Given the description of an element on the screen output the (x, y) to click on. 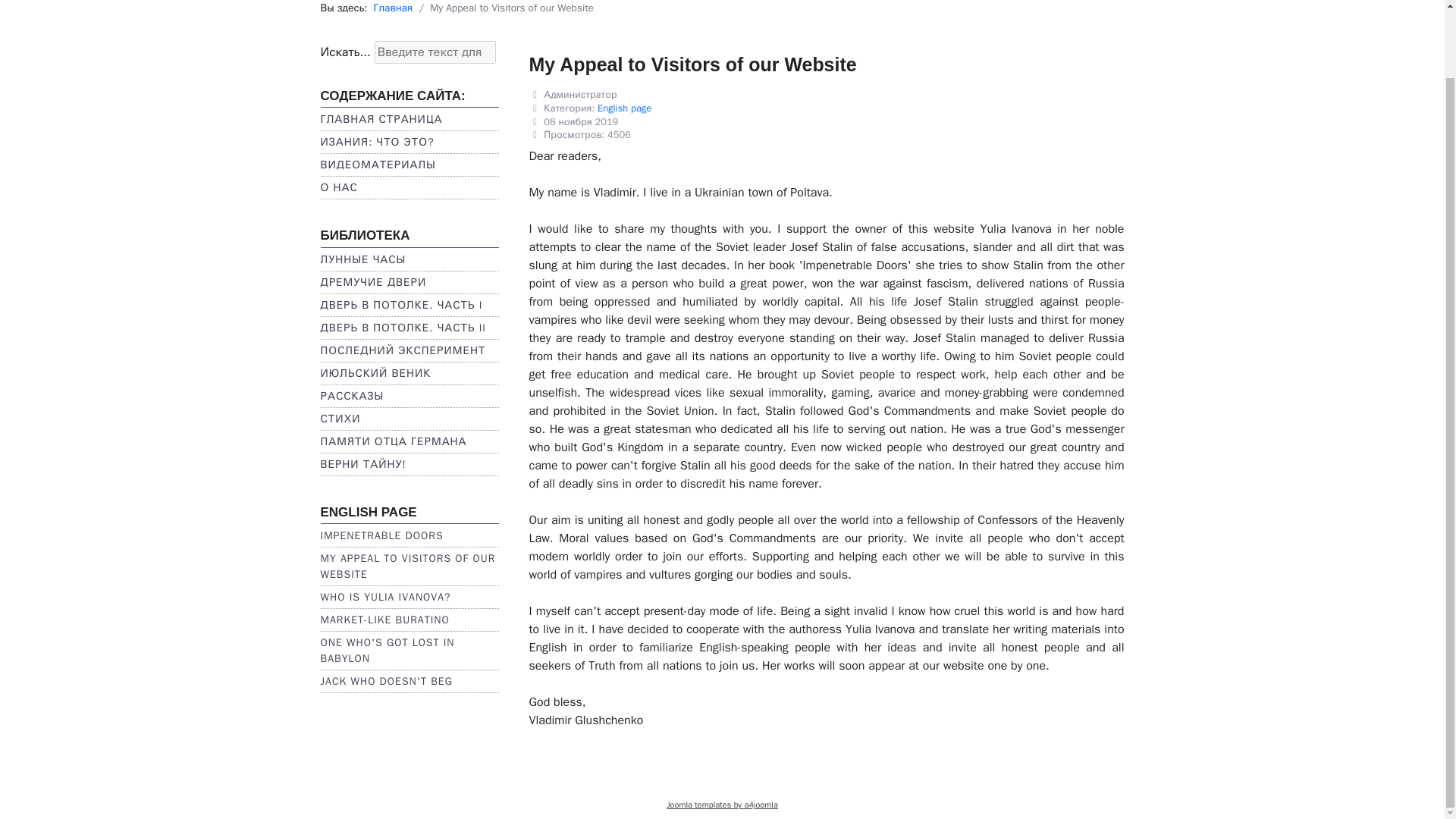
MARKET-LIKE BURATINO (384, 619)
WHO IS YULIA IVANOVA? (384, 596)
Joomla templates by a4joomla (721, 804)
ONE WHO'S GOT LOST IN BABYLON (387, 650)
MY APPEAL TO VISITORS OF OUR WEBSITE (407, 566)
IMPENETRABLE DOORS (381, 535)
JACK WHO DOESN'T BEG (385, 680)
English page (623, 108)
